Given the description of an element on the screen output the (x, y) to click on. 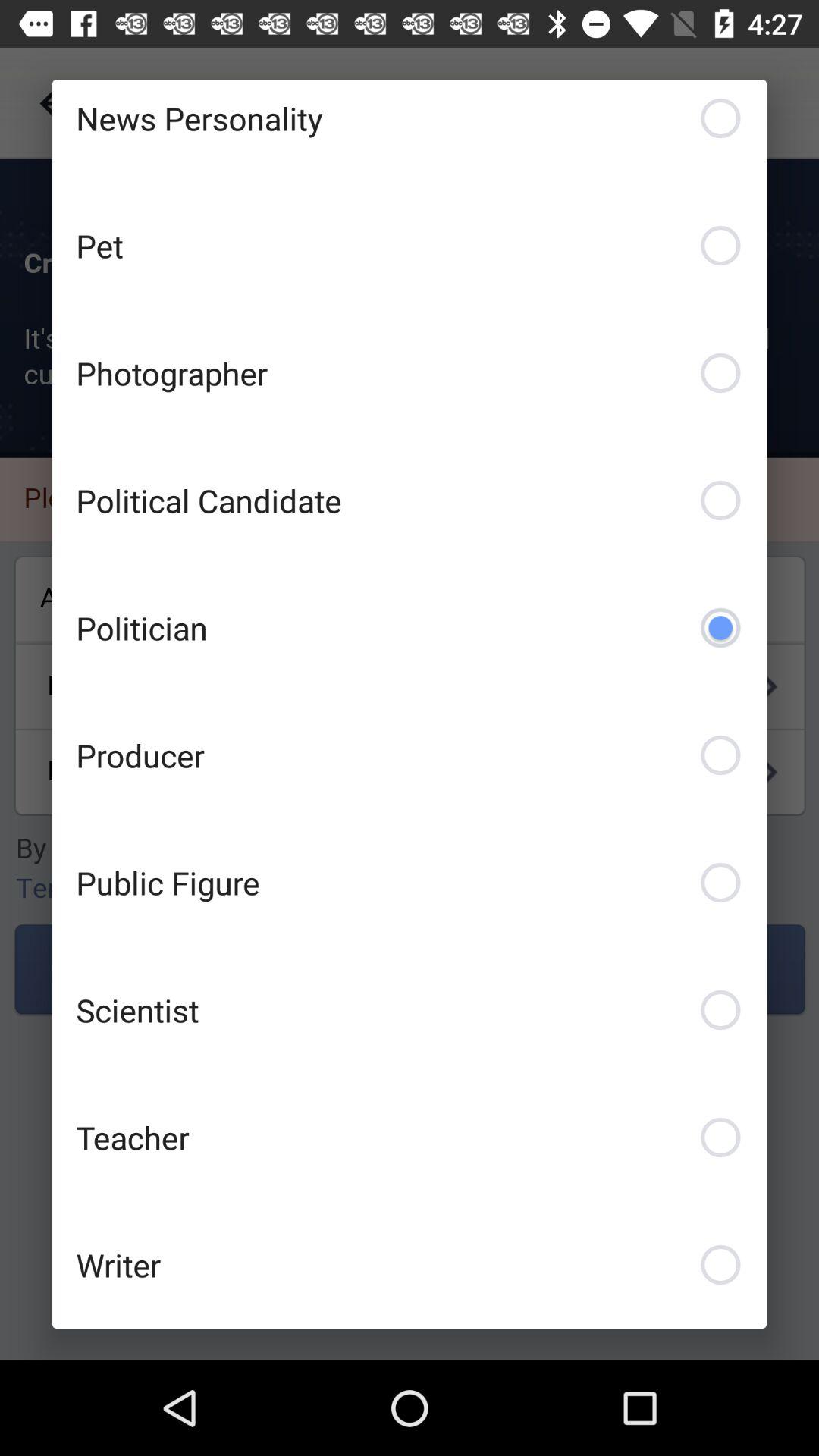
open the icon below news personality (409, 245)
